Given the description of an element on the screen output the (x, y) to click on. 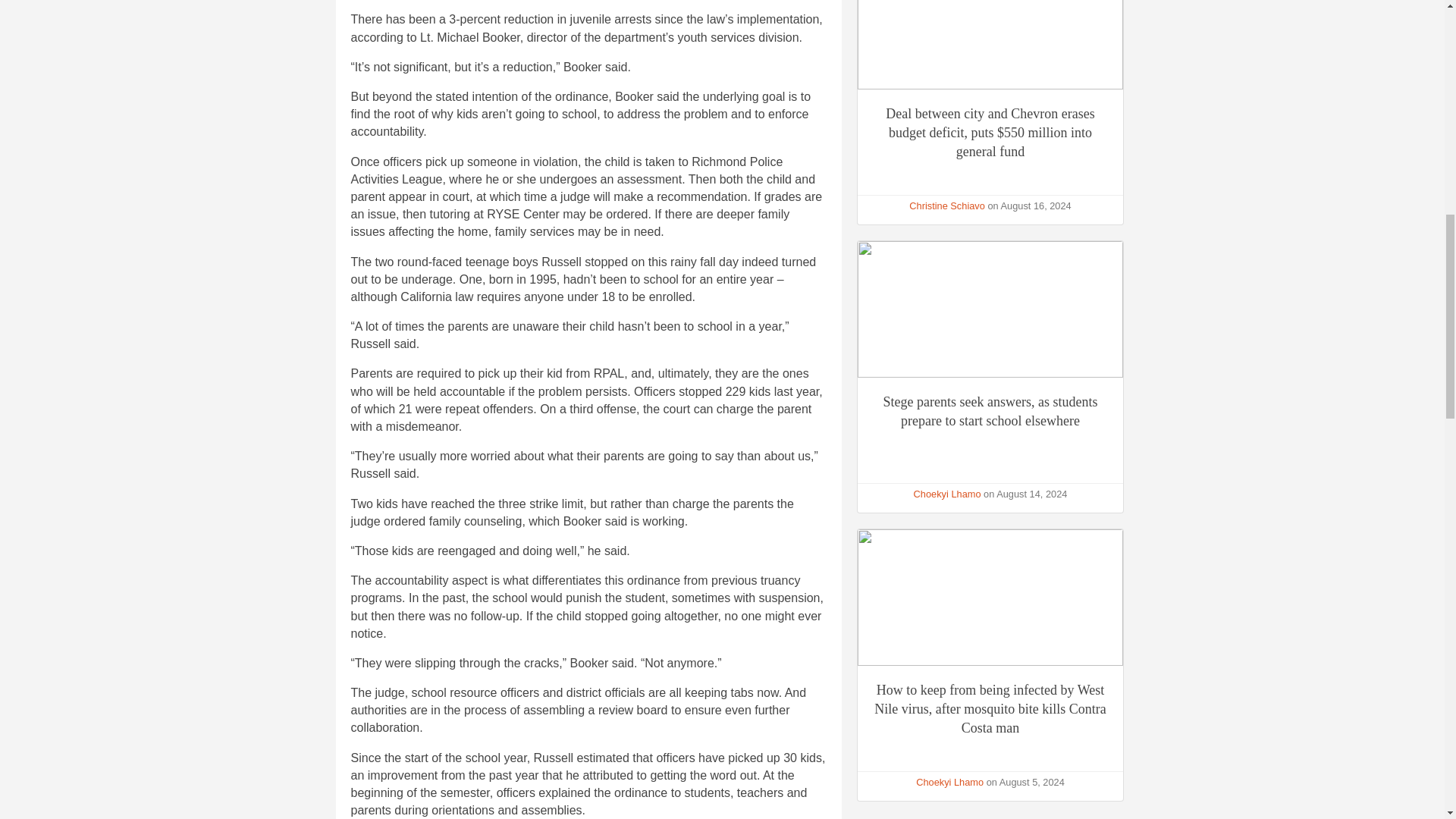
Christine Schiavo (946, 205)
Choekyi Lhamo (949, 781)
Choekyi Lhamo (947, 493)
